Given the description of an element on the screen output the (x, y) to click on. 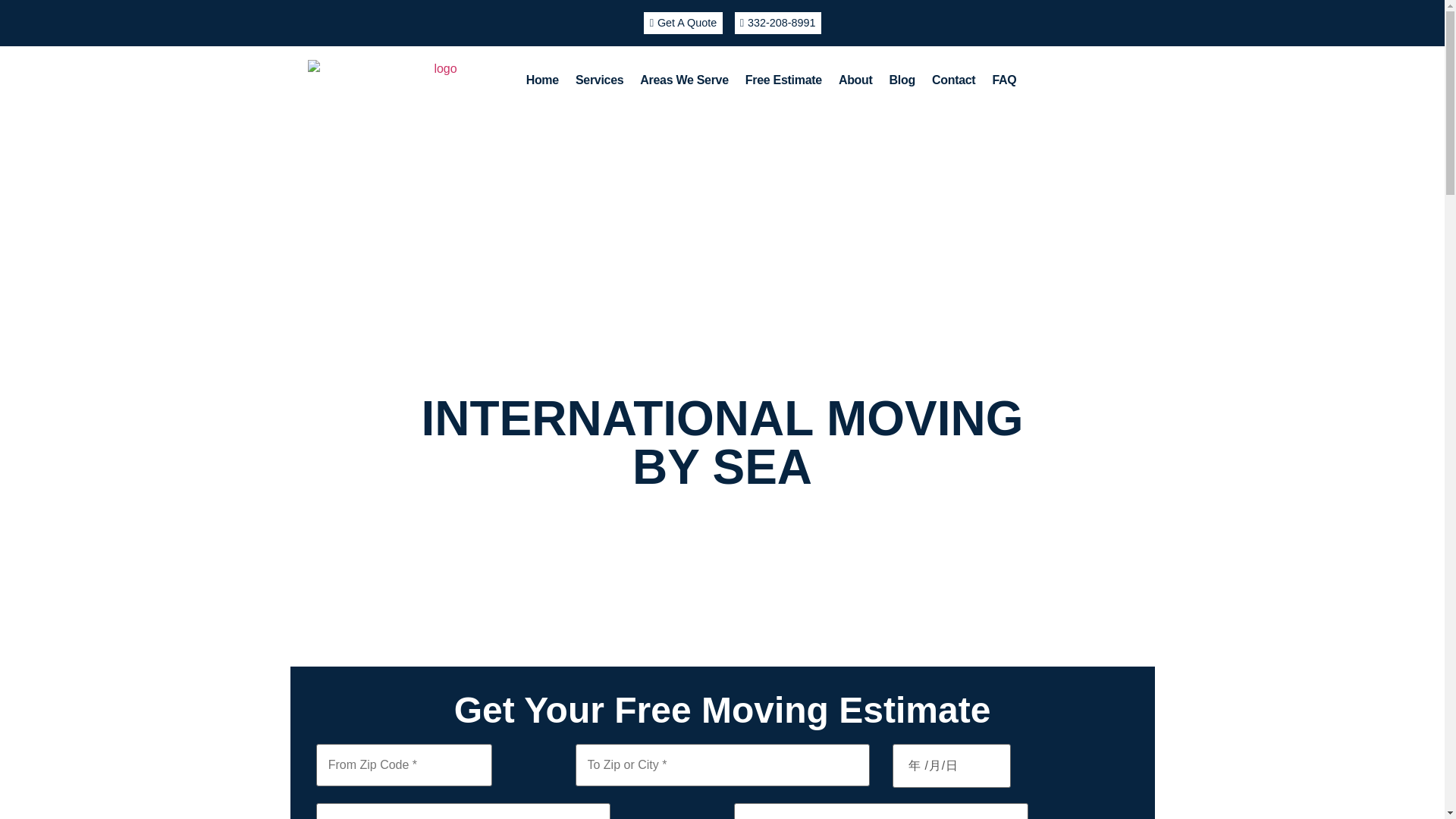
Contact (953, 79)
FAQ (1004, 79)
Get A Quote (682, 23)
Areas We Serve (683, 79)
Services (599, 79)
Home (542, 79)
Blog (901, 79)
Free Estimate (782, 79)
About (854, 79)
332-208-8991 (777, 23)
